Given the description of an element on the screen output the (x, y) to click on. 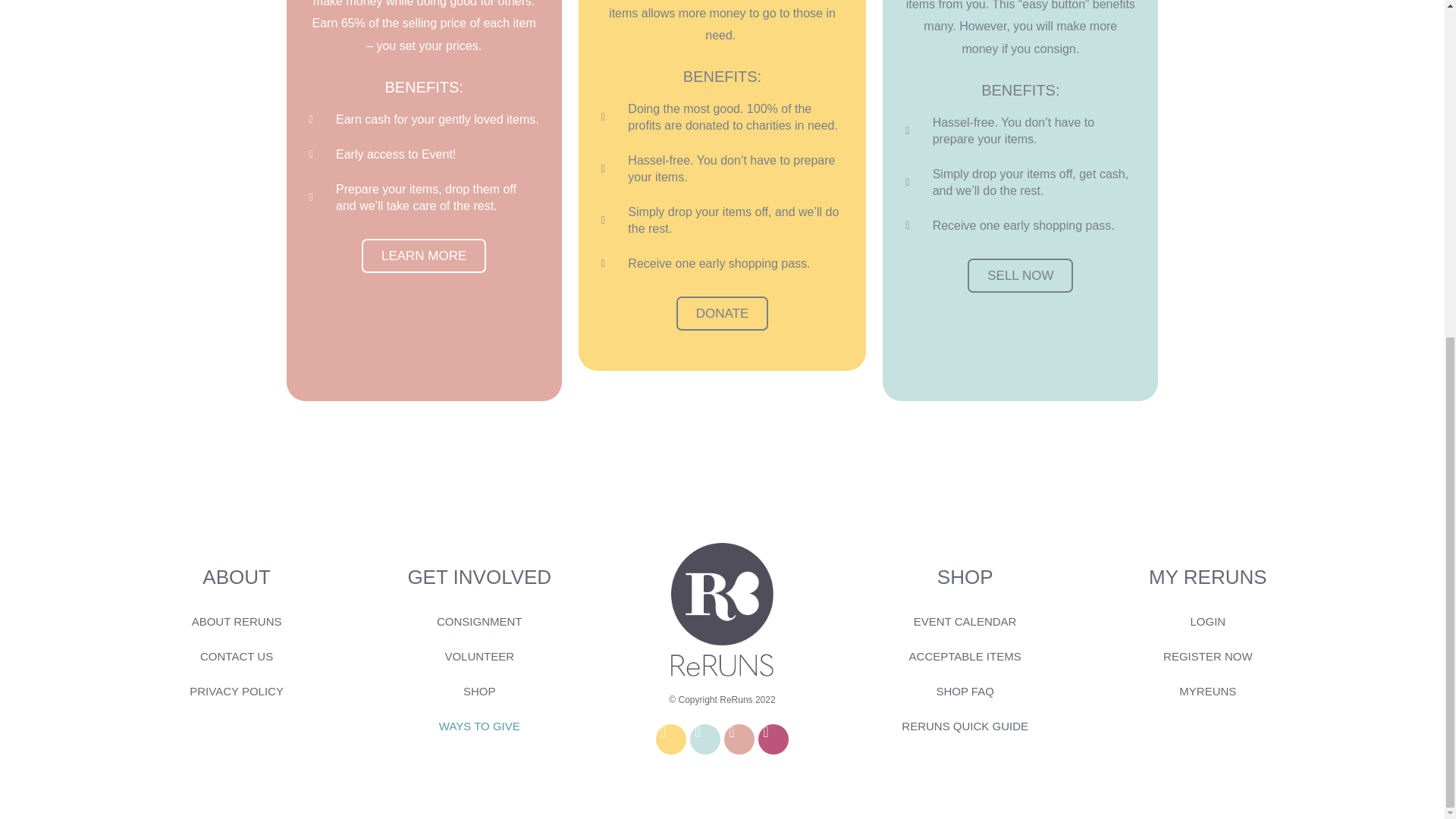
CONSIGNMENT (478, 621)
Envelope (705, 738)
SHOP (478, 691)
ABOUT RERUNS (236, 621)
VOLUNTEER (478, 656)
Phone-alt (670, 738)
SELL NOW (1020, 324)
DONATE (722, 382)
PRIVACY POLICY (236, 691)
WAYS TO GIVE (478, 726)
LEARN MORE (423, 357)
CONTACT US (236, 656)
